Given the description of an element on the screen output the (x, y) to click on. 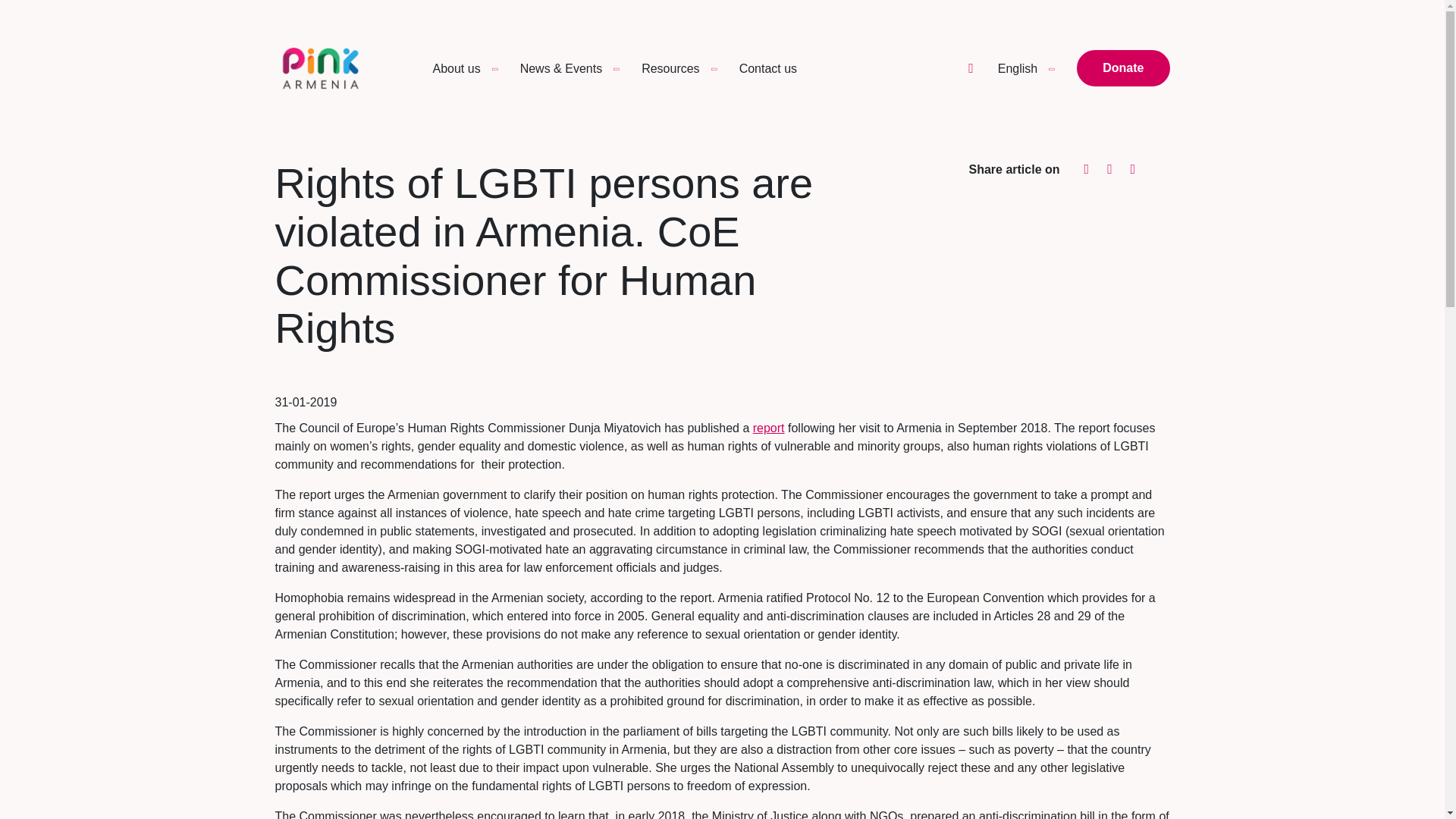
Contact us (767, 68)
English (1016, 67)
About us (456, 68)
Resources (670, 68)
Donate (1123, 67)
